Given the description of an element on the screen output the (x, y) to click on. 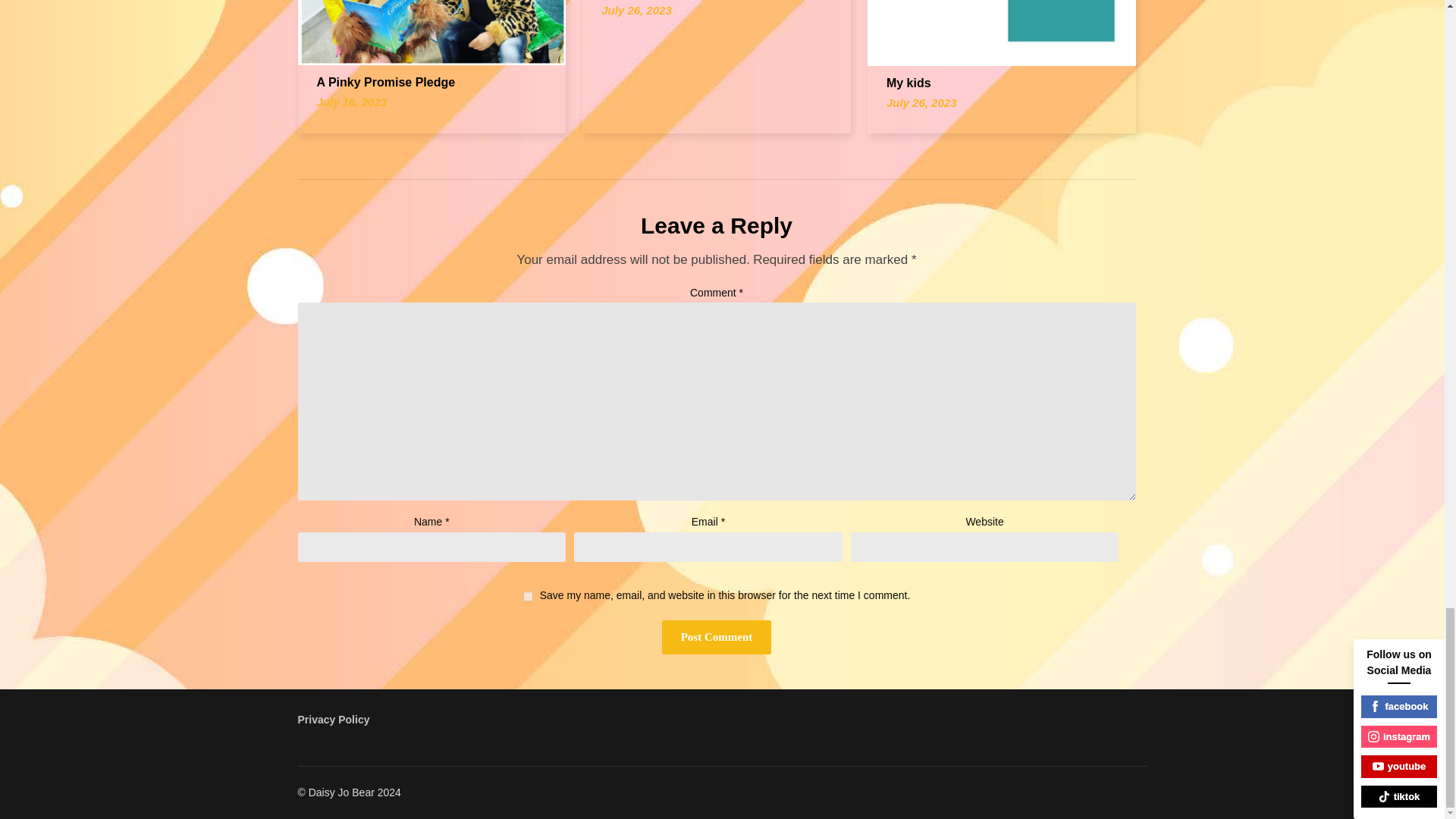
yes (527, 596)
Privacy Policy (333, 719)
My kids (908, 82)
Post Comment (716, 636)
Post Comment (716, 636)
A Pinky Promise Pledge (386, 82)
